Given the description of an element on the screen output the (x, y) to click on. 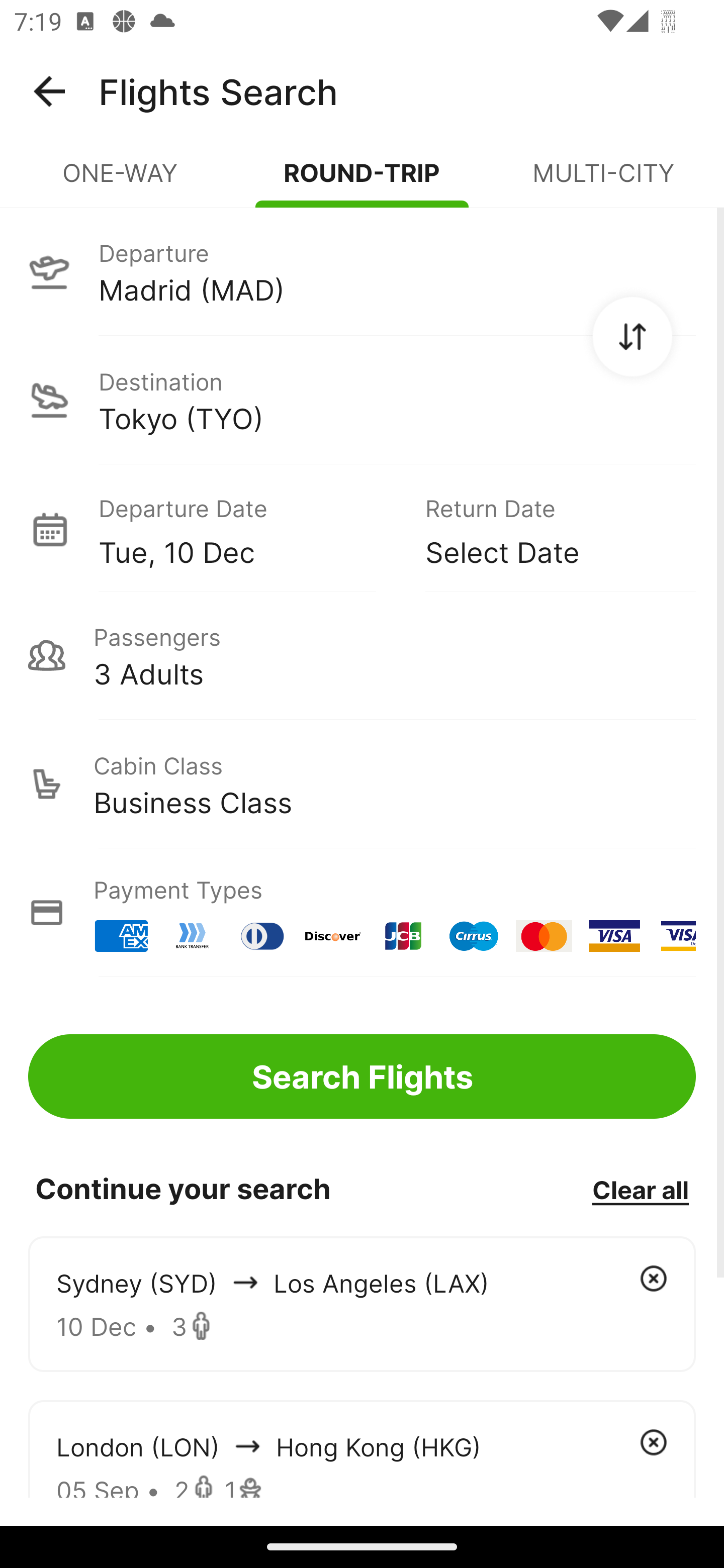
ONE-WAY (120, 180)
ROUND-TRIP (361, 180)
MULTI-CITY (603, 180)
Departure Madrid (MAD) (362, 270)
Destination Tokyo (TYO) (362, 400)
Departure Date Tue, 10 Dec (247, 528)
Return Date Select Date (546, 528)
Passengers 3 Adults (362, 655)
Cabin Class Business Class (362, 783)
Payment Types (362, 912)
Search Flights (361, 1075)
Clear all (640, 1189)
